Given the description of an element on the screen output the (x, y) to click on. 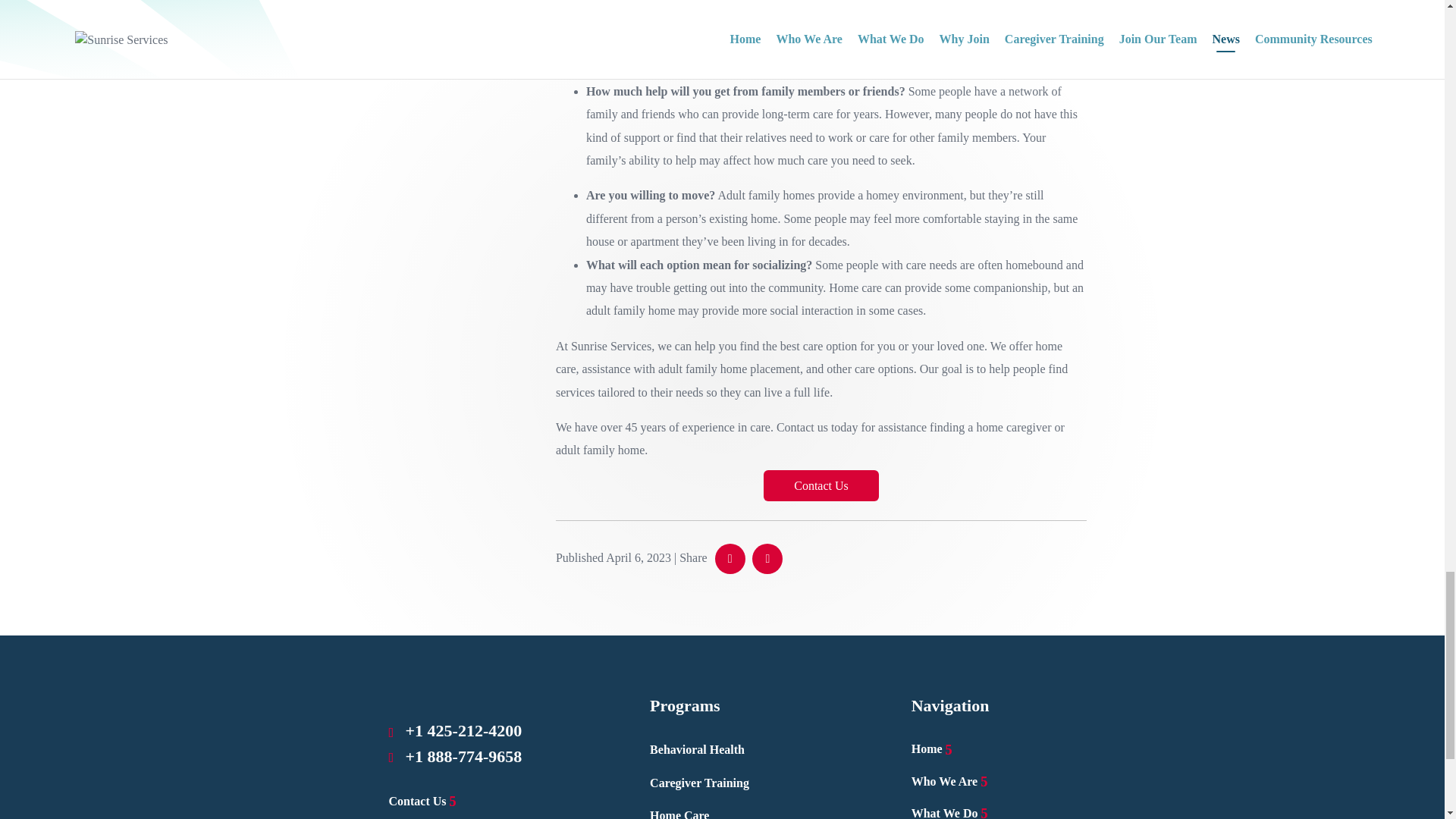
Behavioral Health (696, 748)
Sunrise Services (610, 345)
Home Care (679, 814)
Caregiver Training (699, 782)
Contact Us (421, 800)
other care options (870, 368)
Contact Us (820, 485)
